Given the description of an element on the screen output the (x, y) to click on. 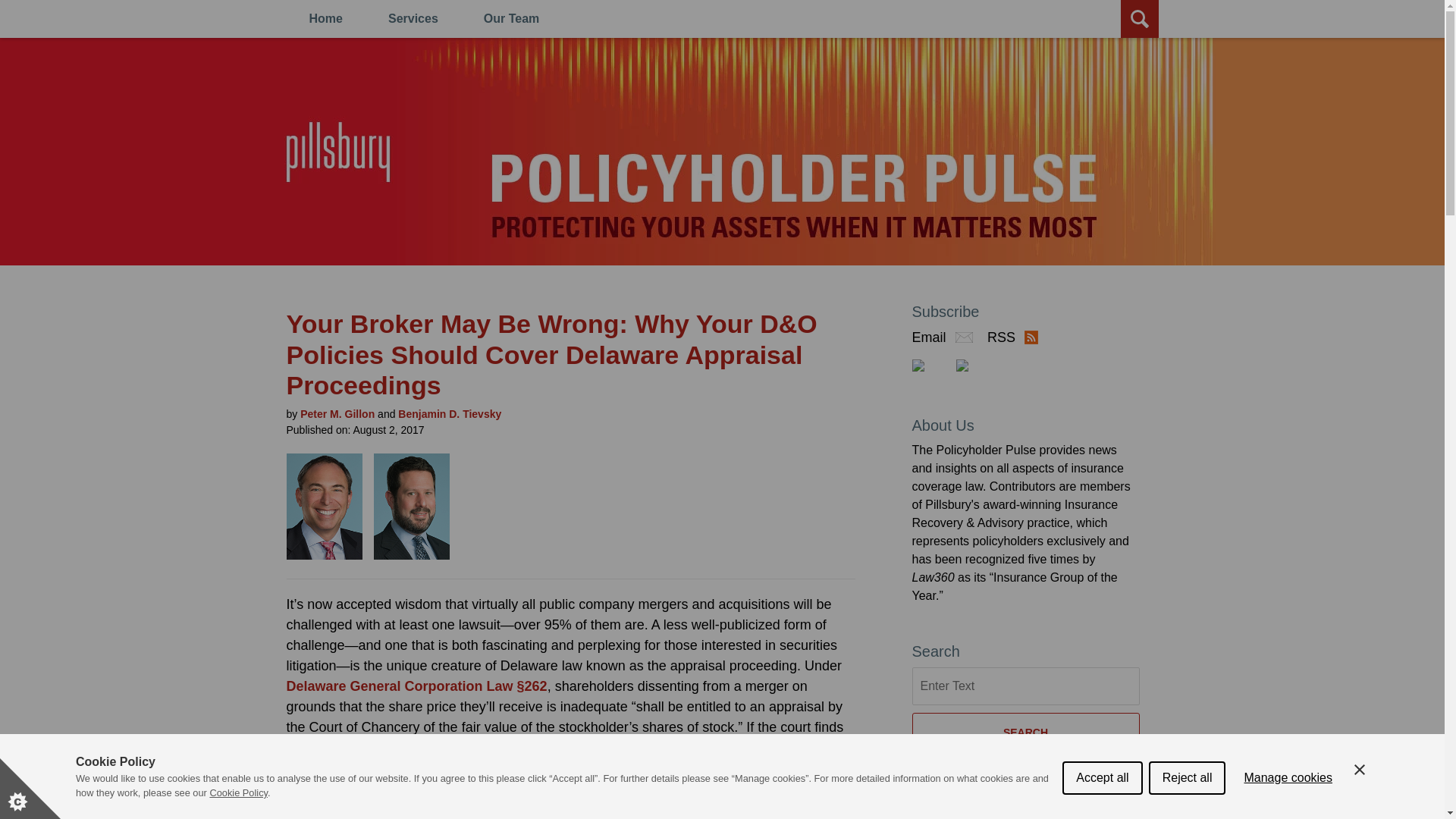
Benjamin D. Tievsky (448, 413)
Published By Pillsbury Winthrop Shaw Pittman LLP (68, 95)
Peter M. Gillon (336, 413)
Home (325, 18)
Twitter (929, 365)
Manage cookies (1287, 786)
Reject all (1186, 798)
Our Team (511, 18)
Search (1044, 114)
LinkedIn (973, 365)
